Given the description of an element on the screen output the (x, y) to click on. 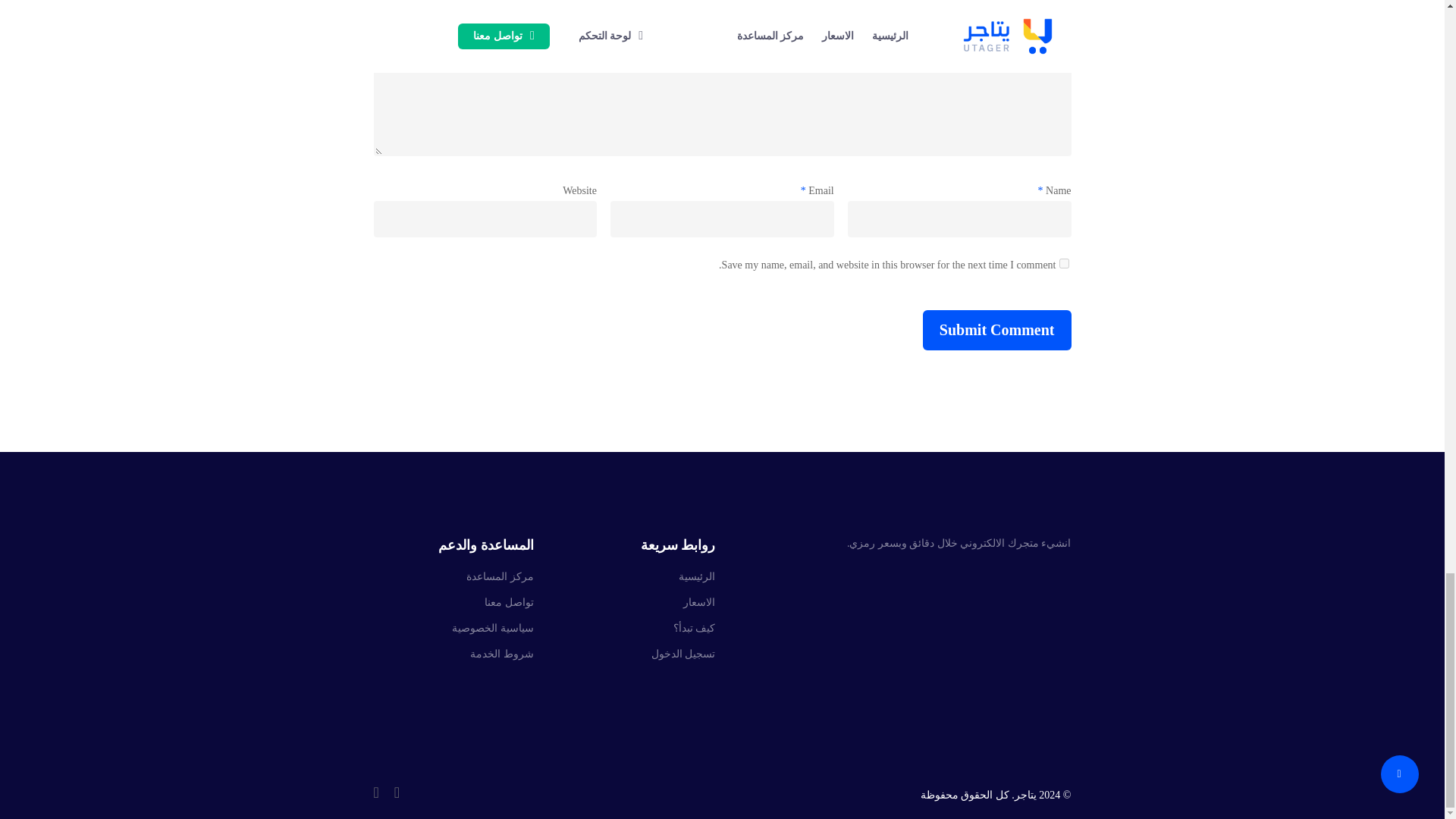
yes (1063, 263)
Submit Comment (997, 330)
Submit Comment (997, 330)
